Given the description of an element on the screen output the (x, y) to click on. 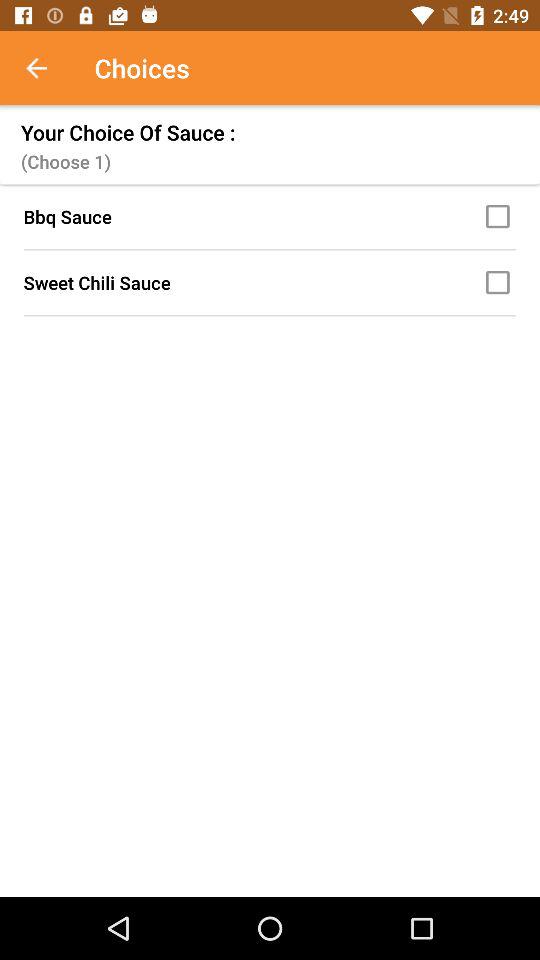
go back (47, 68)
